Given the description of an element on the screen output the (x, y) to click on. 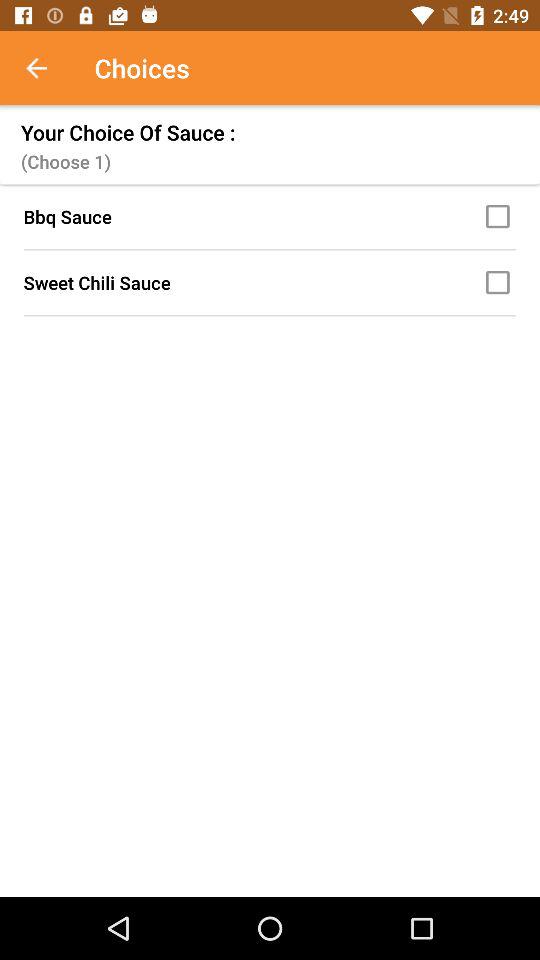
go back (47, 68)
